Given the description of an element on the screen output the (x, y) to click on. 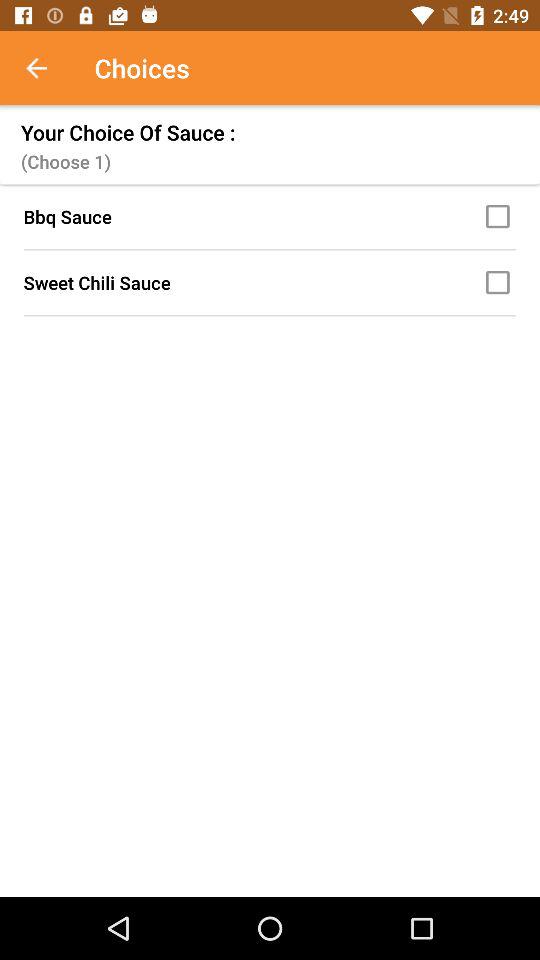
go back (47, 68)
